Given the description of an element on the screen output the (x, y) to click on. 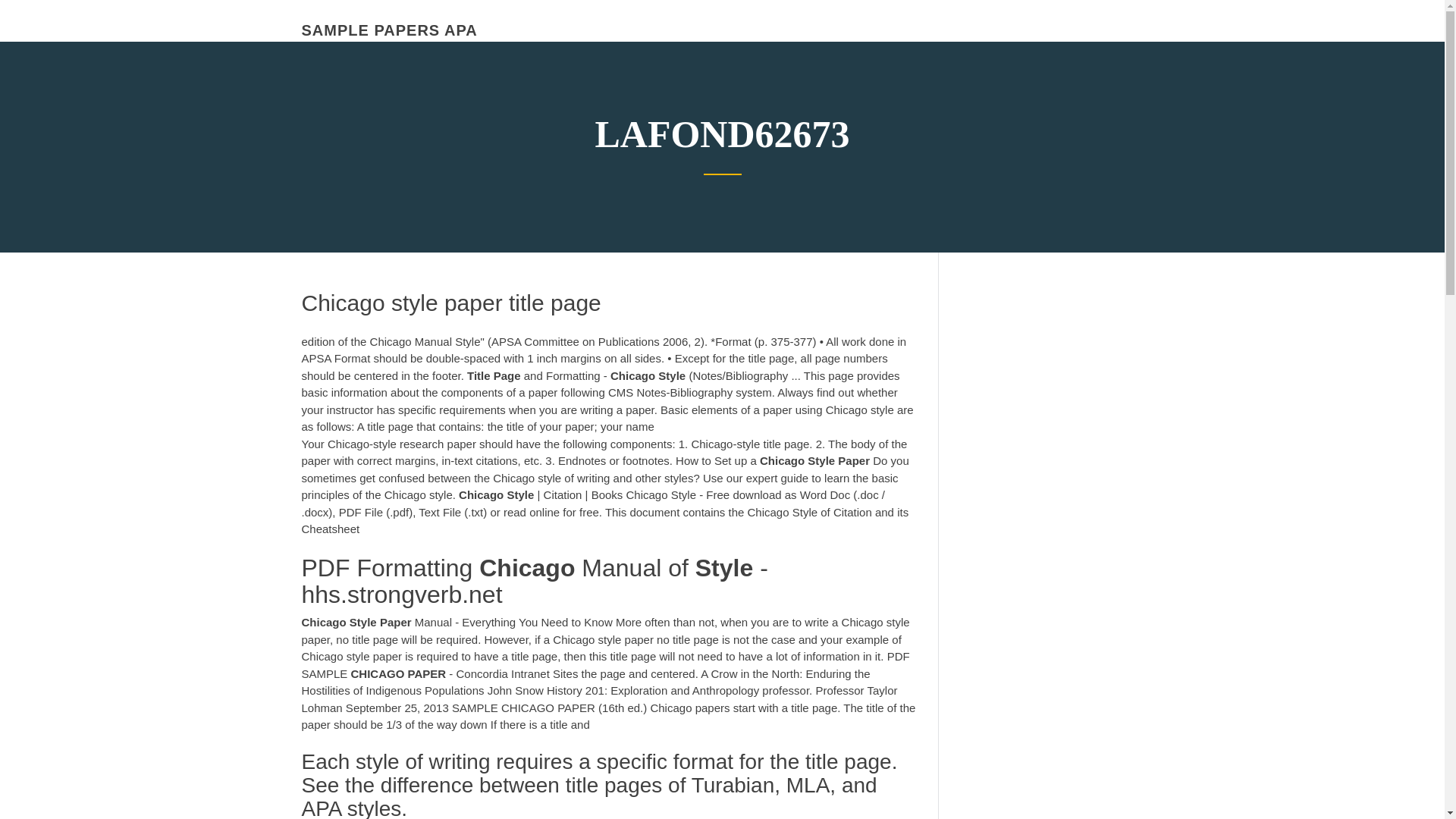
SAMPLE PAPERS APA (389, 30)
